Given the description of an element on the screen output the (x, y) to click on. 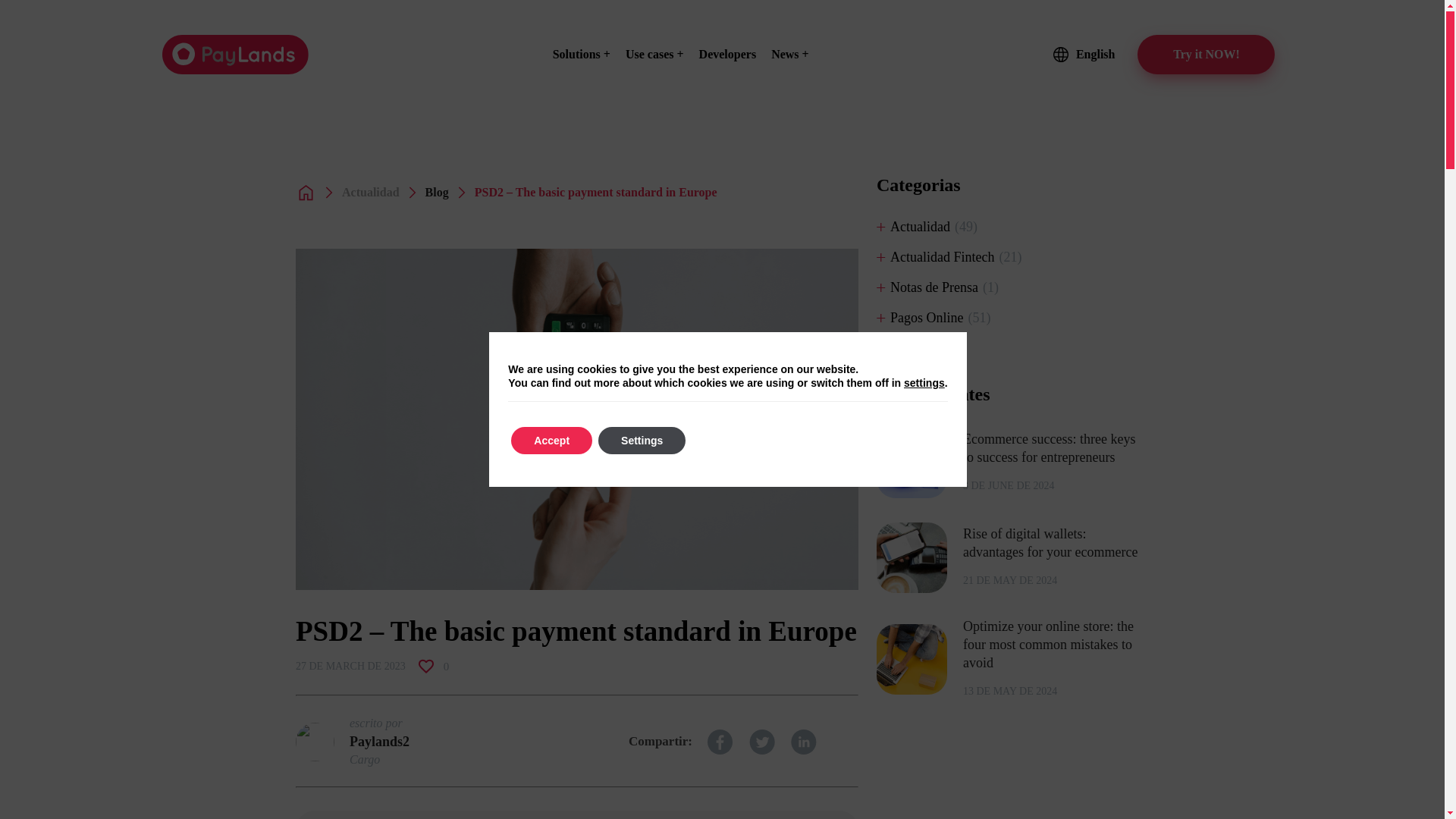
Developers (727, 53)
Try it NOW! (1206, 54)
